Given the description of an element on the screen output the (x, y) to click on. 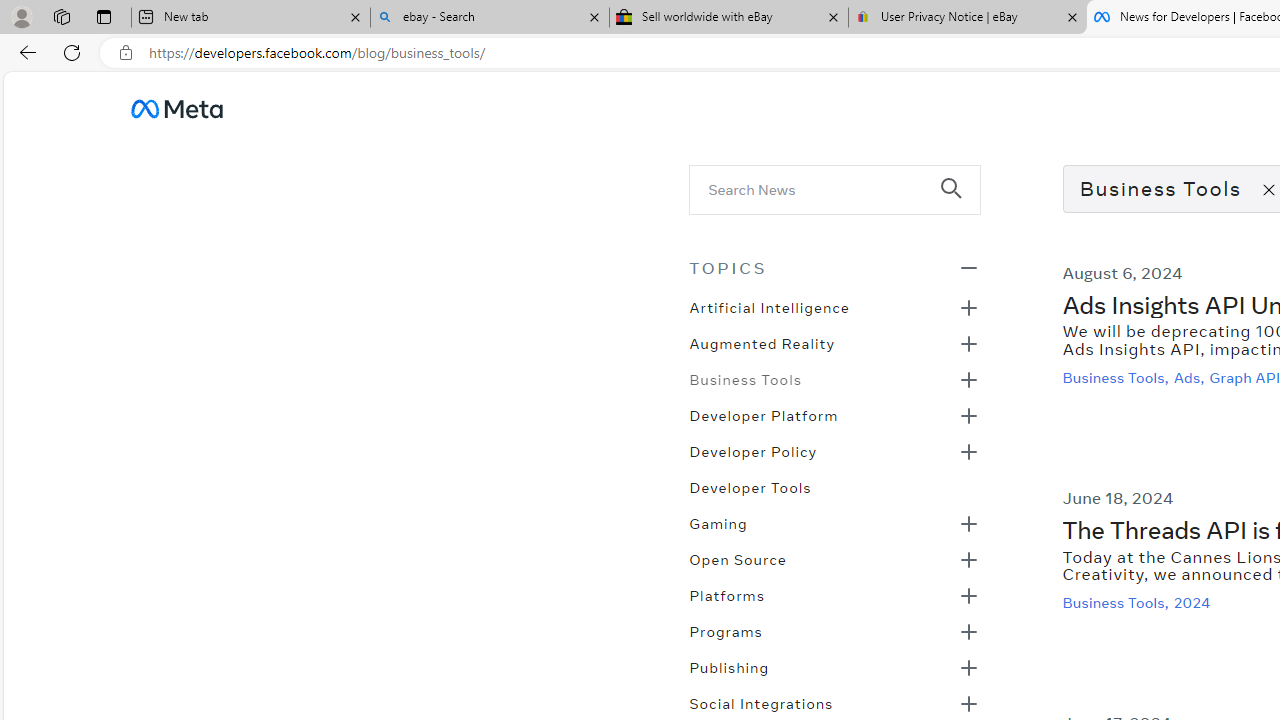
Open Source (737, 557)
Gaming (717, 521)
Business Tools (745, 377)
2024 (1194, 602)
Class: _98ex (834, 493)
Developer Platform (763, 413)
Social Integrations (761, 701)
User Privacy Notice | eBay (967, 17)
Publishing (729, 665)
Augmented Reality (761, 341)
